Given the description of an element on the screen output the (x, y) to click on. 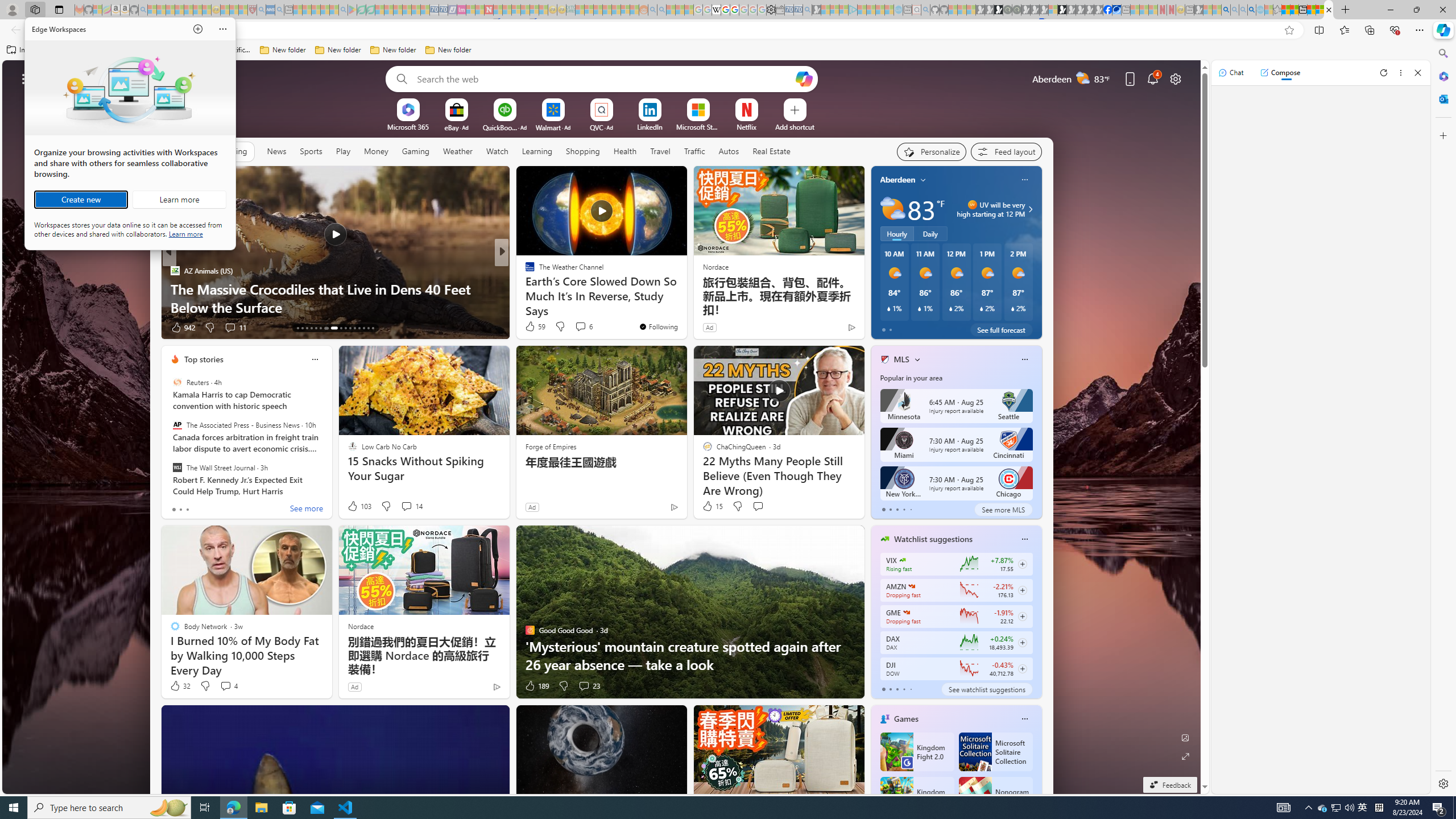
AutomationID: tab-14 (301, 328)
Feed settings (1005, 151)
Notification Chevron (1308, 807)
AutomationID: tab-26 (363, 328)
CNET (524, 270)
Type here to search (108, 807)
Shopping (583, 151)
